Given the description of an element on the screen output the (x, y) to click on. 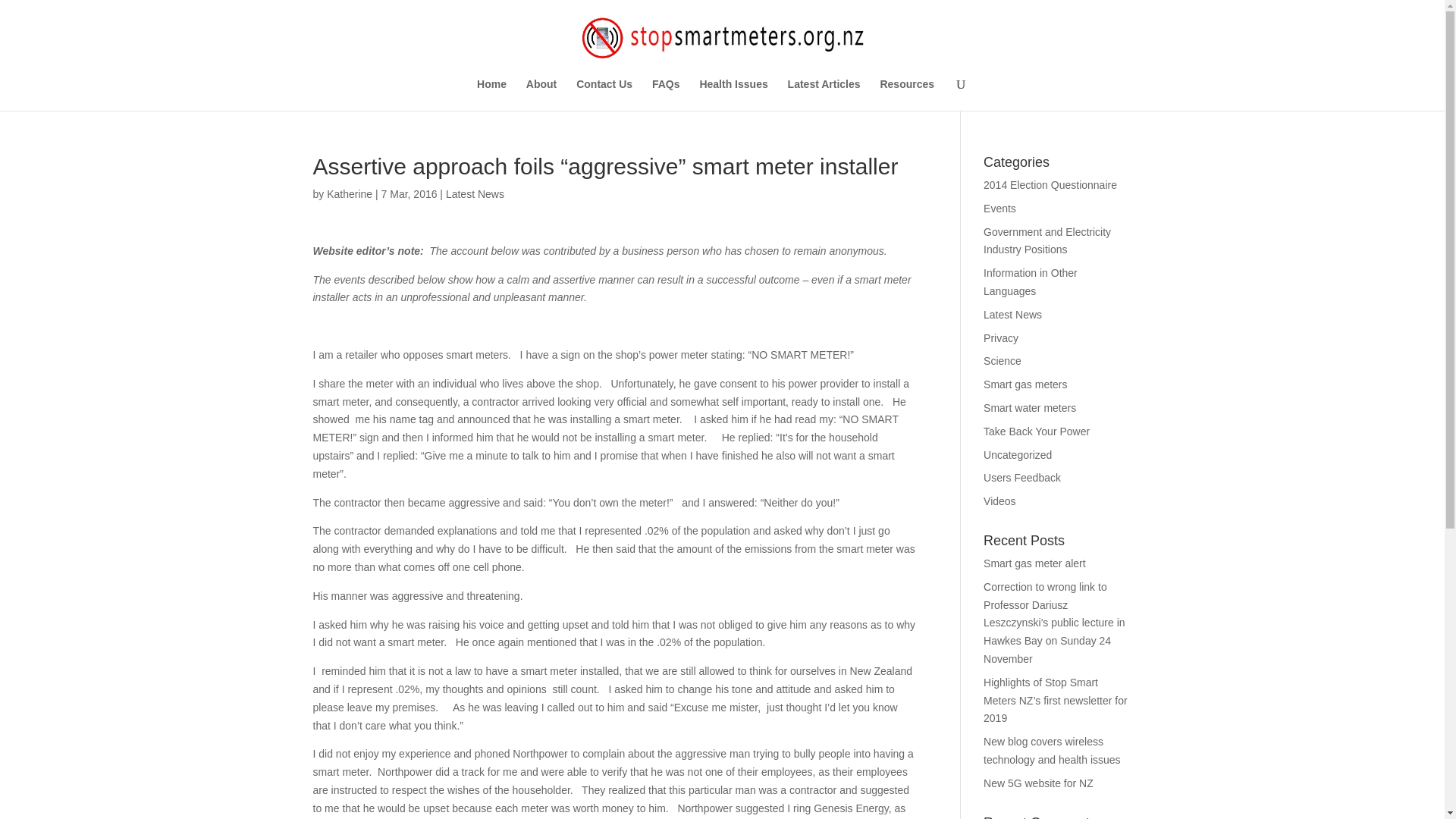
Smart water meters (1029, 408)
Uncategorized (1017, 454)
Contact Us (603, 94)
Health Issues (732, 94)
Events (1000, 208)
About (540, 94)
Latest News (474, 193)
Latest News (1013, 314)
Take Back Your Power (1036, 431)
Resources (906, 94)
Government and Electricity Industry Positions (1047, 241)
Latest Articles (823, 94)
Posts by Katherine (349, 193)
Smart gas meters (1025, 384)
Information in Other Languages (1030, 281)
